Given the description of an element on the screen output the (x, y) to click on. 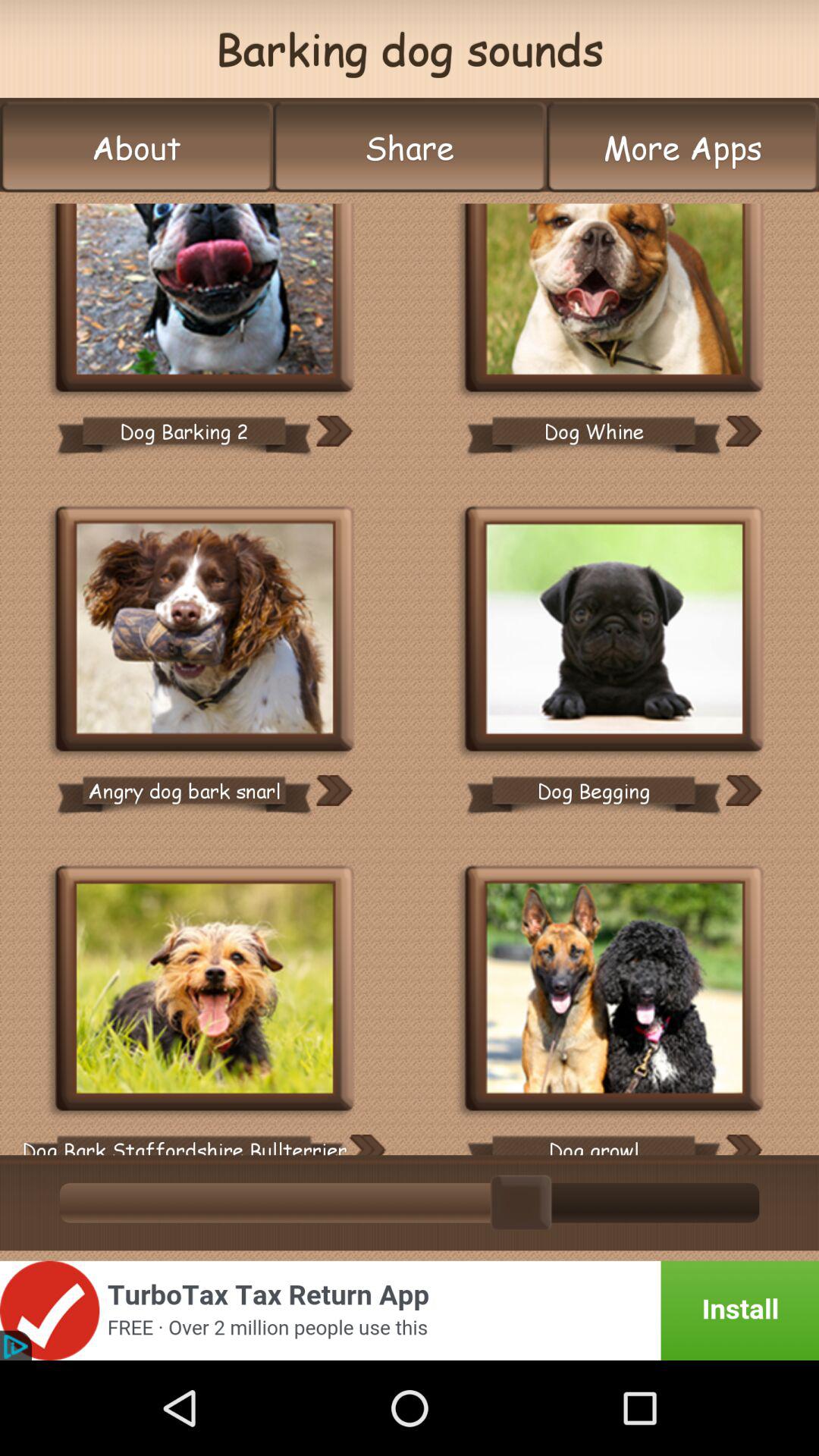
tap dog whine icon (593, 430)
